Given the description of an element on the screen output the (x, y) to click on. 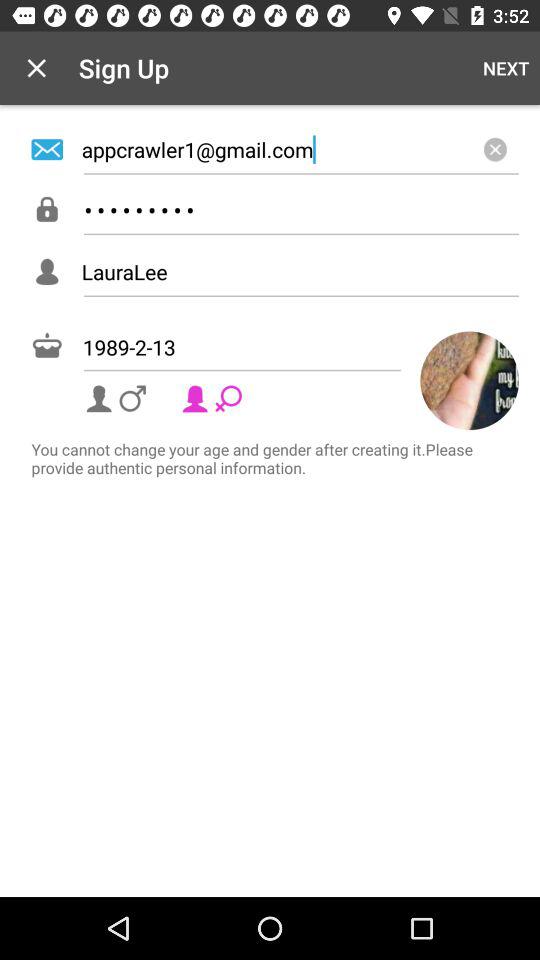
tap the 1989-2-13 (275, 347)
